Given the description of an element on the screen output the (x, y) to click on. 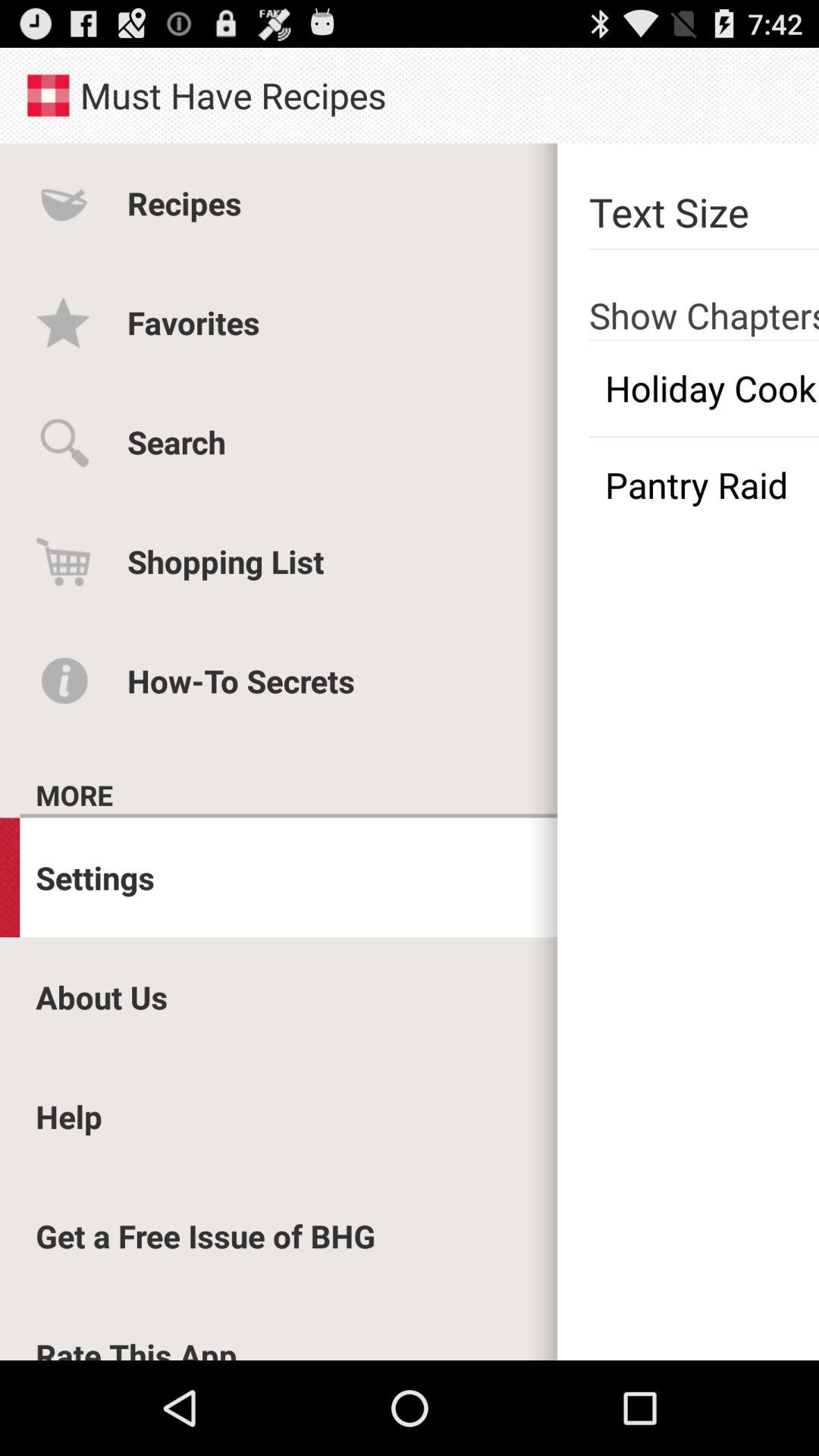
click the button howto secrets icon on the web page (63, 680)
